Given the description of an element on the screen output the (x, y) to click on. 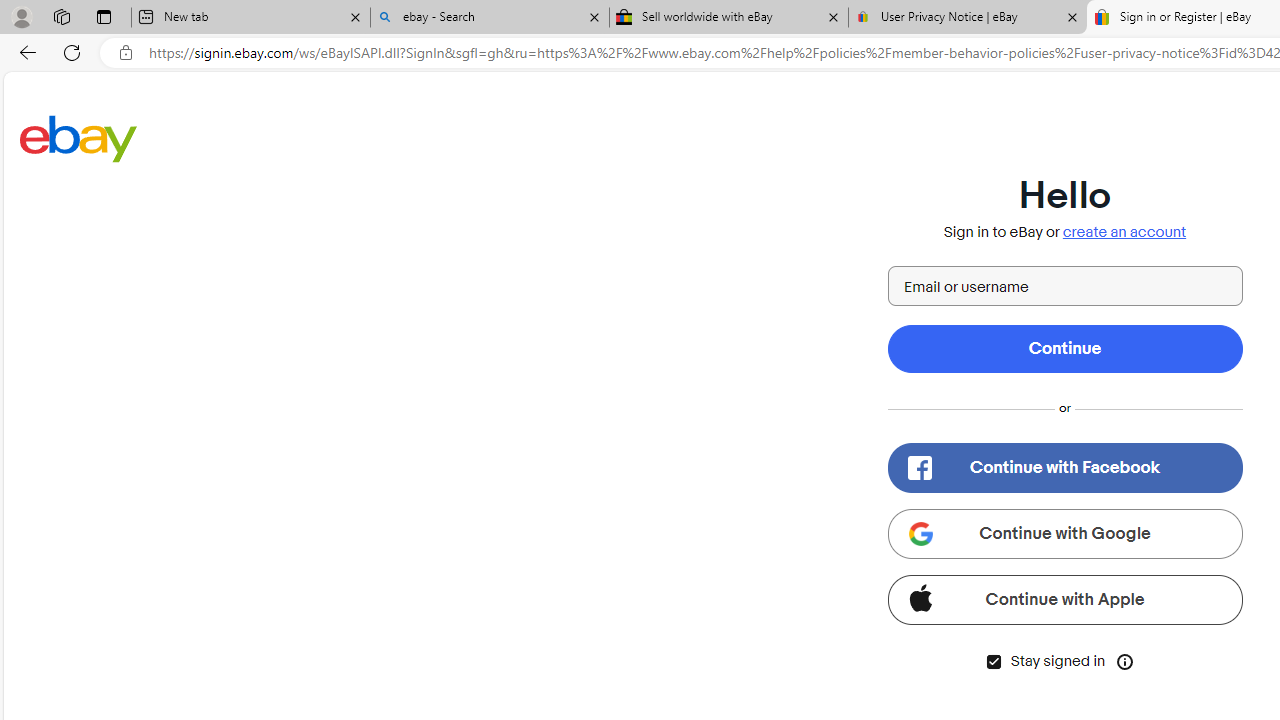
eBay Home (78, 138)
Class: fb-icon (919, 467)
Class: apple-icon (920, 597)
eBay Home (78, 138)
Continue with Google (1064, 533)
Continue with Facebook (1064, 467)
Class: icon-btn tooltip__host icon-btn--transparent (1124, 660)
Continue (1064, 348)
create an account (1124, 232)
Stay signed in (993, 661)
